Given the description of an element on the screen output the (x, y) to click on. 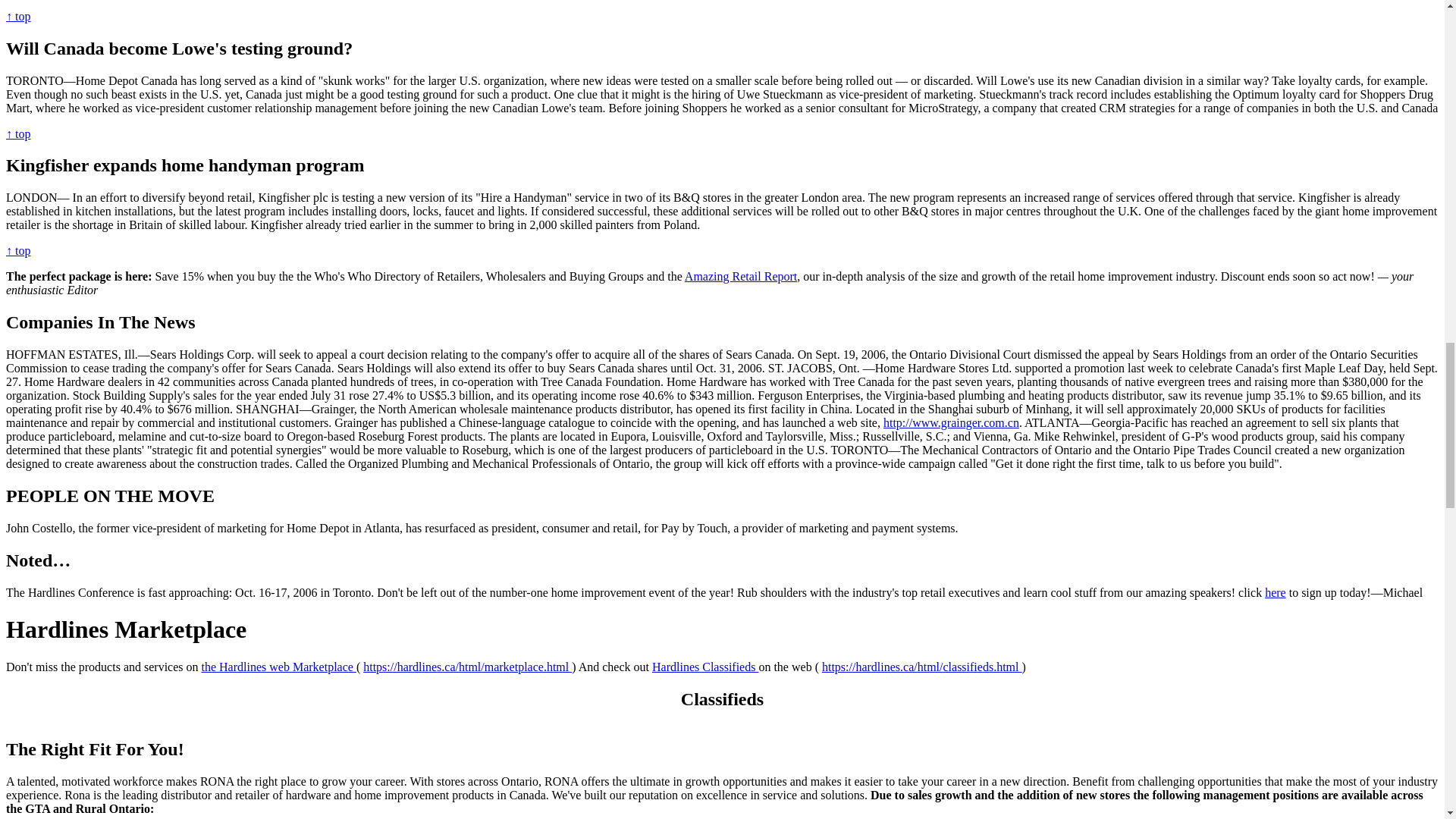
Hardlines Classifieds (705, 666)
return to top (17, 133)
here (1275, 592)
Amazing Retail Report (740, 276)
the Hardlines web Marketplace (279, 666)
return to top (17, 250)
return to top (17, 15)
